Given the description of an element on the screen output the (x, y) to click on. 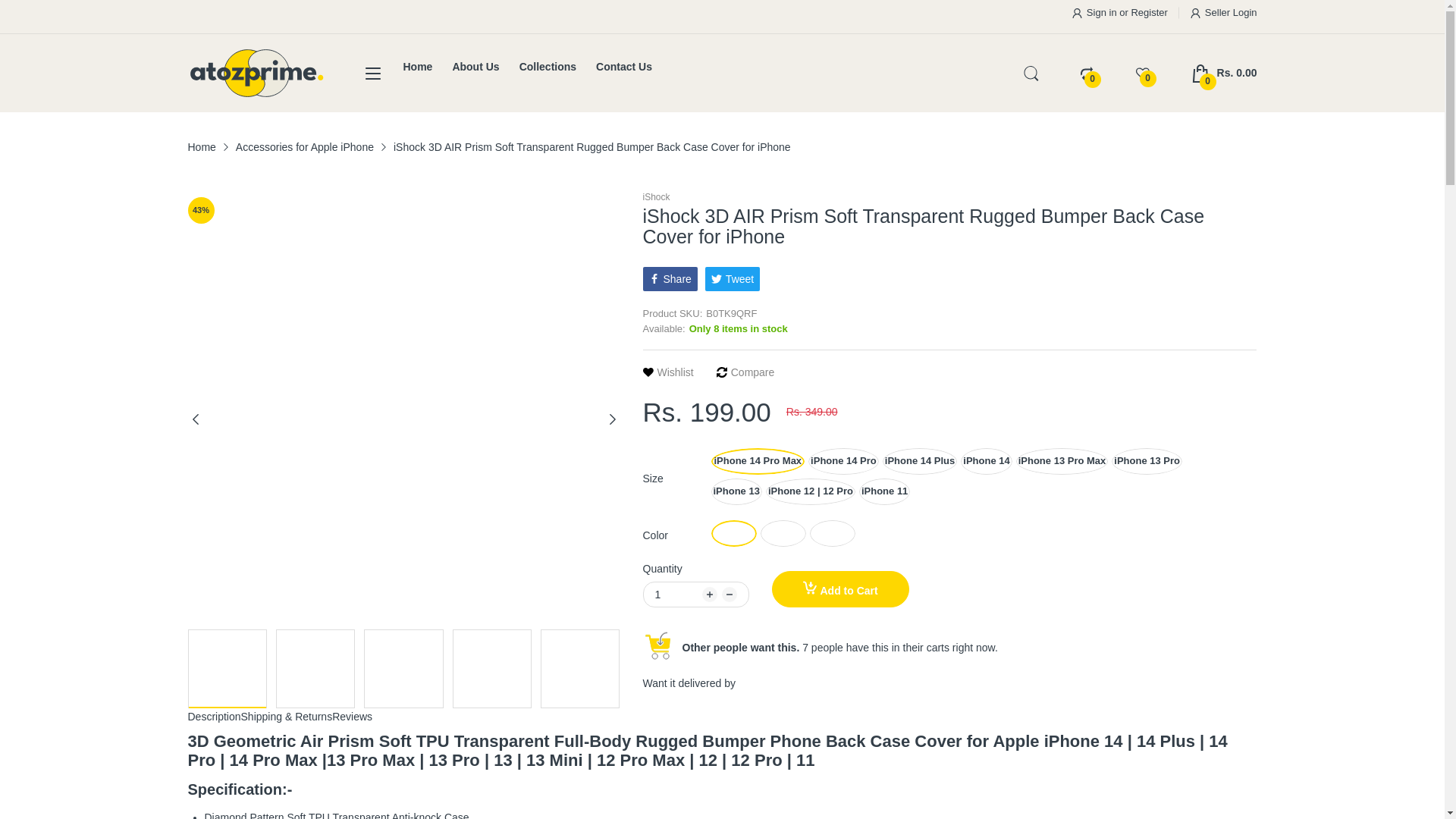
iPhone 13 Pro (1147, 461)
Register (1149, 12)
Tweet (732, 278)
iPhone 14 Pro Max (1224, 72)
Wishlist (758, 461)
iShock (668, 372)
Add to Cart (656, 197)
Seller Login (839, 588)
Facebook (1224, 12)
